Given the description of an element on the screen output the (x, y) to click on. 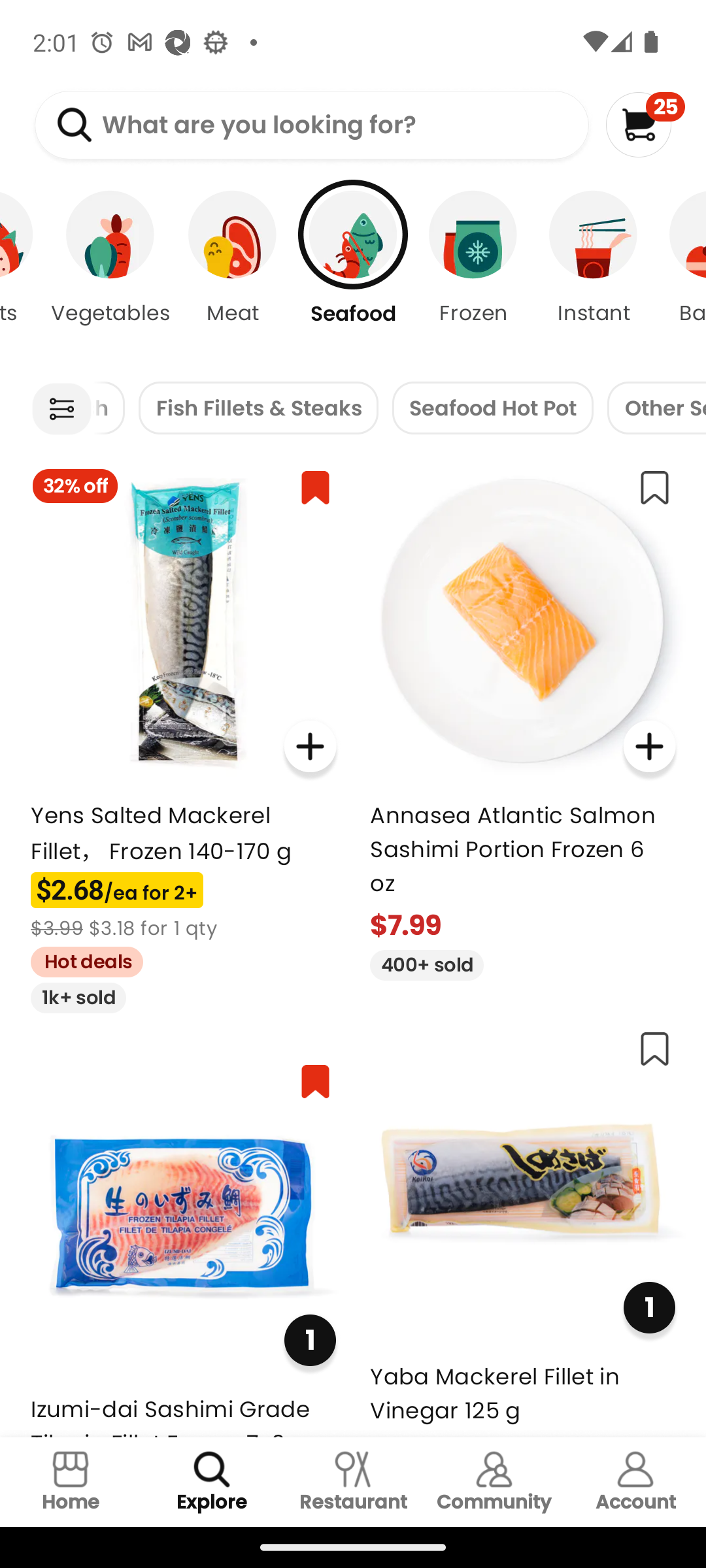
What are you looking for? (311, 124)
25 (644, 124)
Vegetables (110, 274)
Meat (232, 274)
Seafood (352, 274)
Frozen (473, 274)
Instant (593, 274)
Fish Fillets & Steaks (258, 407)
Seafood Hot Pot (492, 407)
Other Seafood (656, 407)
Hot deals (79, 958)
1 Yaba Mackerel Fillet in Vinegar 125 g $3.99 (522, 1225)
1 (648, 1307)
1 (310, 1339)
Home (70, 1482)
Explore (211, 1482)
Restaurant (352, 1482)
Community (493, 1482)
Account (635, 1482)
